Given the description of an element on the screen output the (x, y) to click on. 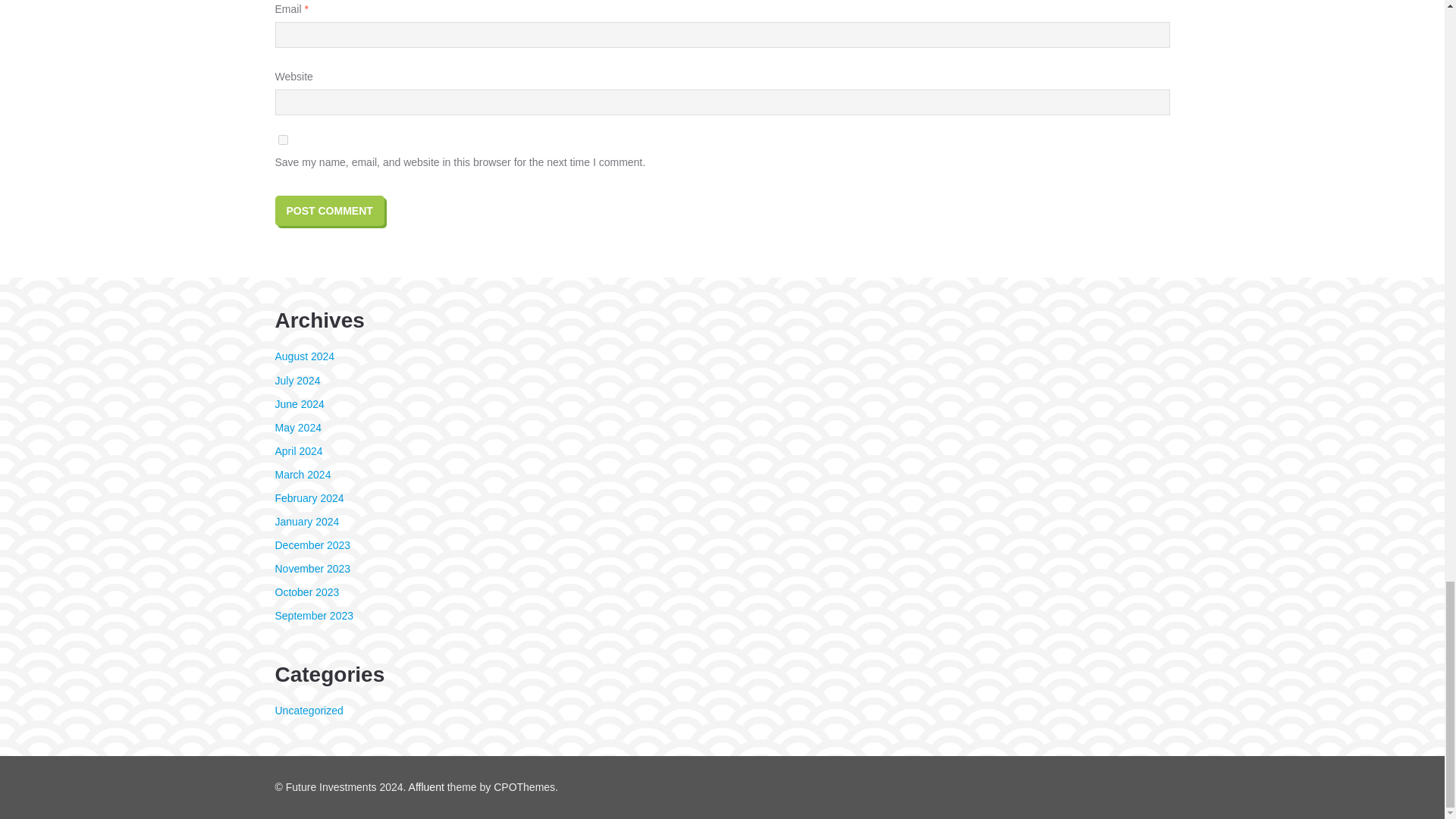
April 2024 (298, 451)
December 2023 (312, 544)
Uncategorized (308, 710)
Post Comment (329, 210)
March 2024 (302, 474)
Affluent (426, 787)
Post Comment (329, 210)
August 2024 (304, 356)
September 2023 (314, 615)
yes (282, 139)
